Given the description of an element on the screen output the (x, y) to click on. 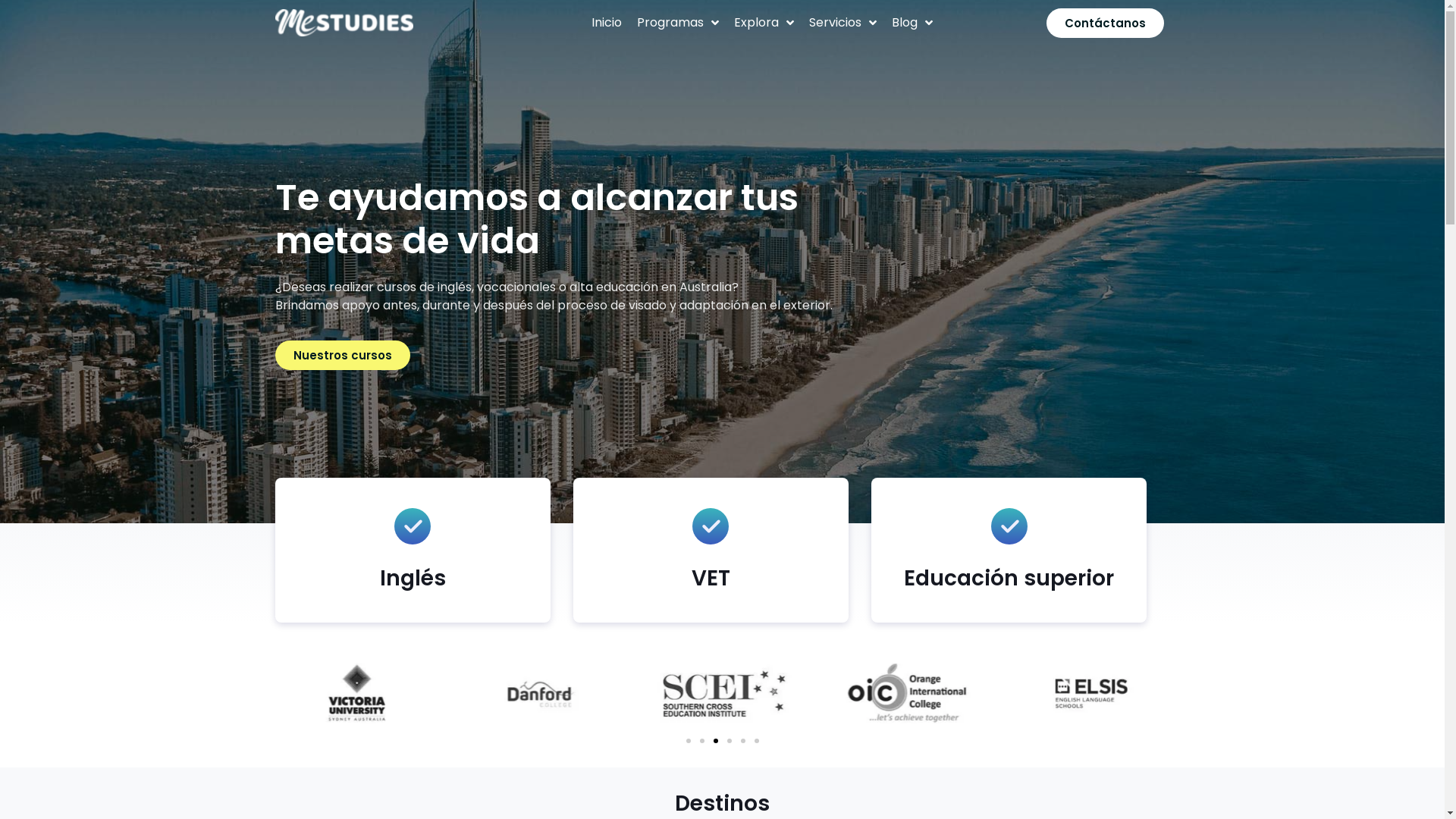
Inicio Element type: text (606, 22)
Servicios Element type: text (842, 22)
Nuestros cursos Element type: text (341, 355)
Programas Element type: text (677, 22)
VET Element type: text (710, 578)
Explora Element type: text (763, 22)
Blog Element type: text (912, 22)
